Given the description of an element on the screen output the (x, y) to click on. 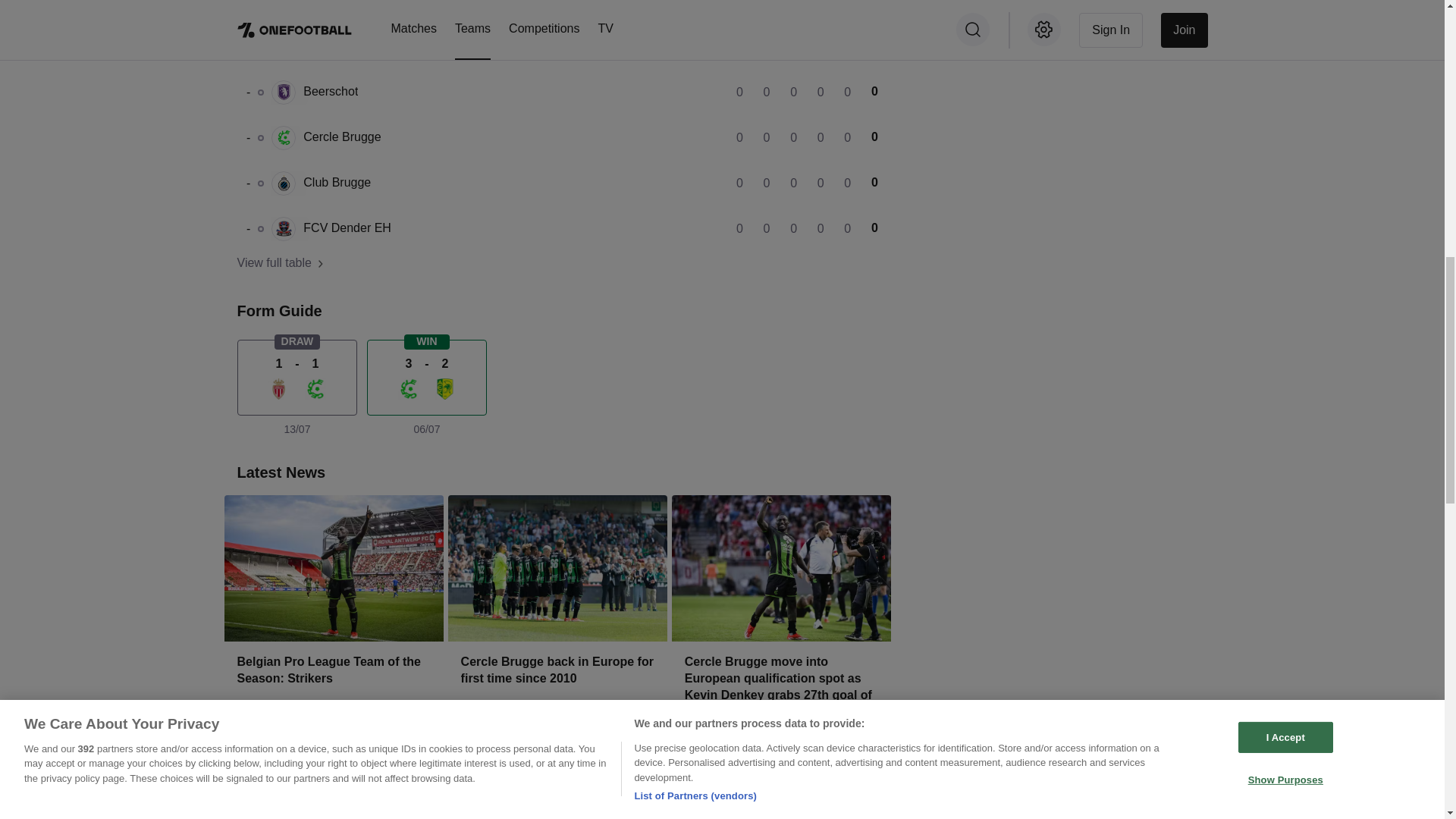
Cercle Brugge back in Europe for first time since 2010 (557, 687)
Goals difference (556, 228)
Points (841, 7)
Add to your bookmarks (556, 183)
Add to your bookmarks (556, 46)
Games played (556, 92)
Belgian Pro League Team of the Season: Strikers (865, 7)
View full table (637, 749)
